Given the description of an element on the screen output the (x, y) to click on. 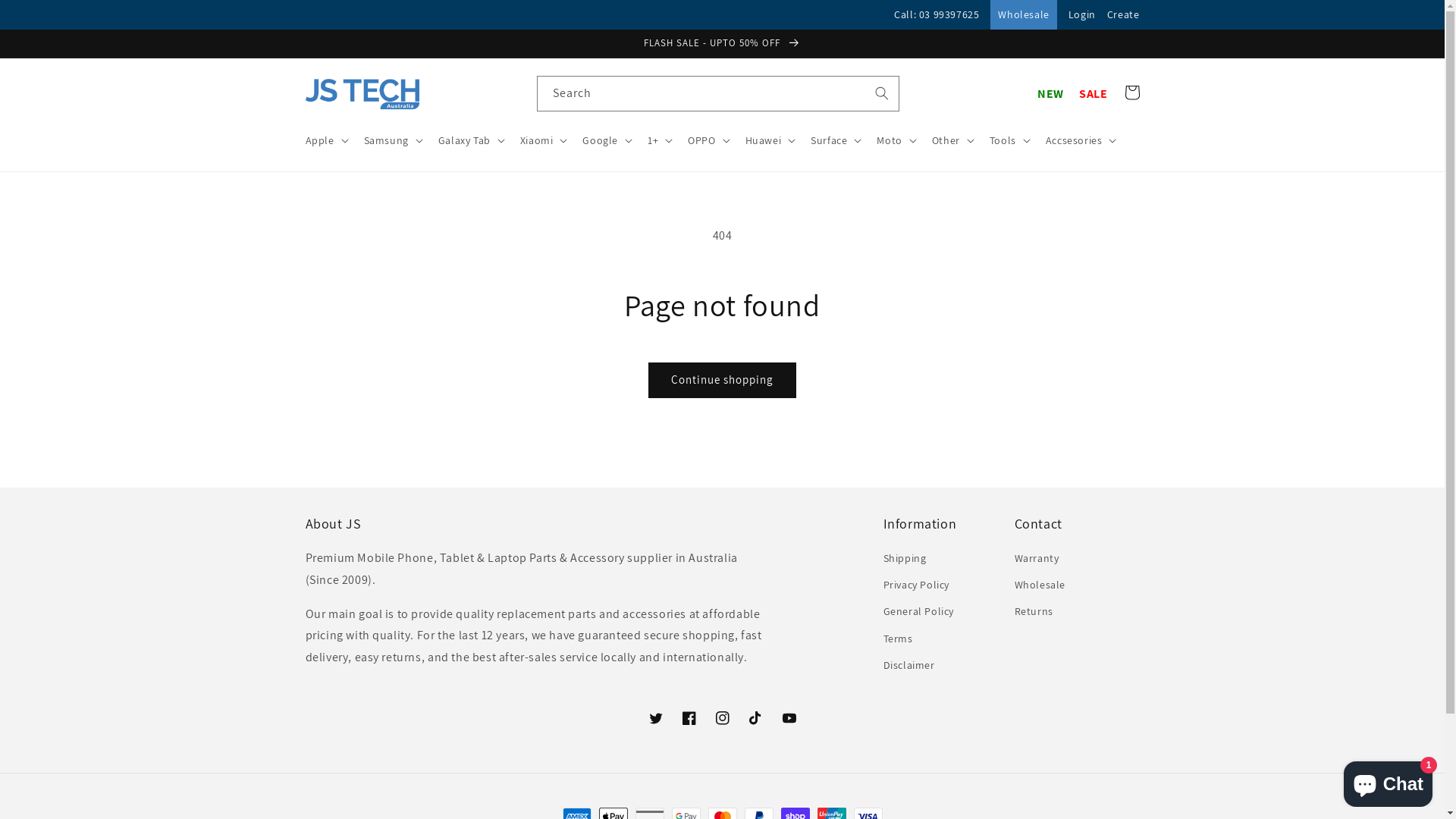
Instagram Element type: text (721, 717)
Create Element type: text (1123, 14)
Privacy Policy Element type: text (915, 584)
Terms Element type: text (897, 638)
TikTok Element type: text (754, 717)
Warranty Element type: text (1036, 560)
FLASH SALE - UPTO 50% OFF Element type: text (722, 43)
Wholesale Element type: text (1039, 584)
Cart Element type: text (1131, 92)
NEW Element type: text (1050, 94)
Twitter Element type: text (654, 717)
Call: 03 99397625 Element type: text (936, 14)
SALE Element type: text (1093, 94)
General Policy Element type: text (917, 611)
Continue shopping Element type: text (722, 380)
Facebook Element type: text (688, 717)
Wholesale Element type: text (1022, 14)
Shipping Element type: text (903, 560)
YouTube Element type: text (788, 717)
Disclaimer Element type: text (908, 665)
Login Element type: text (1081, 14)
Shopify online store chat Element type: hover (1388, 780)
Returns Element type: text (1033, 611)
